Given the description of an element on the screen output the (x, y) to click on. 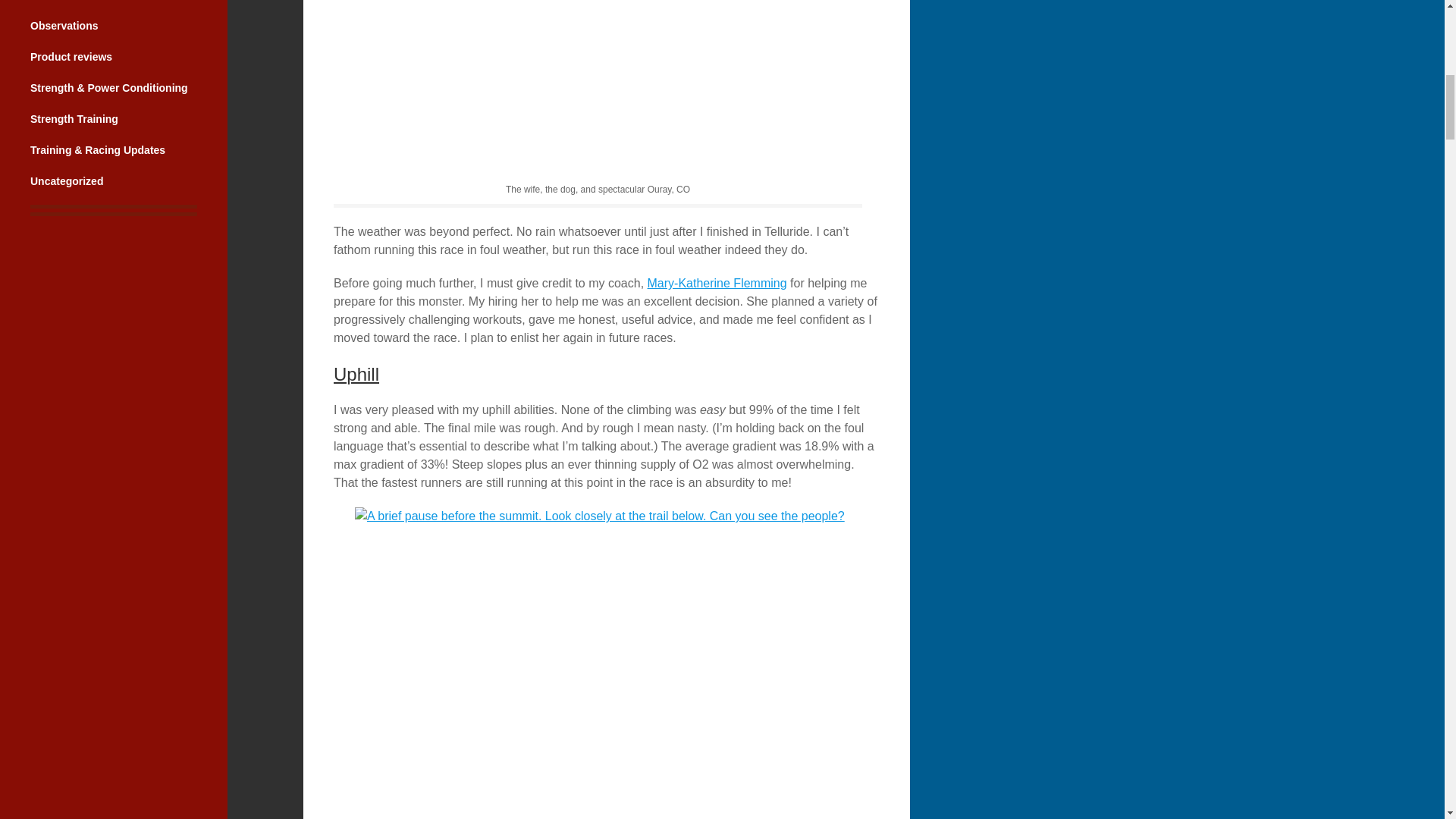
Nutrition (52, 0)
Product reviews (71, 56)
Observations (63, 25)
Uncategorized (66, 181)
Mary-Katherine Flemming (717, 282)
Strength Training (73, 119)
